Given the description of an element on the screen output the (x, y) to click on. 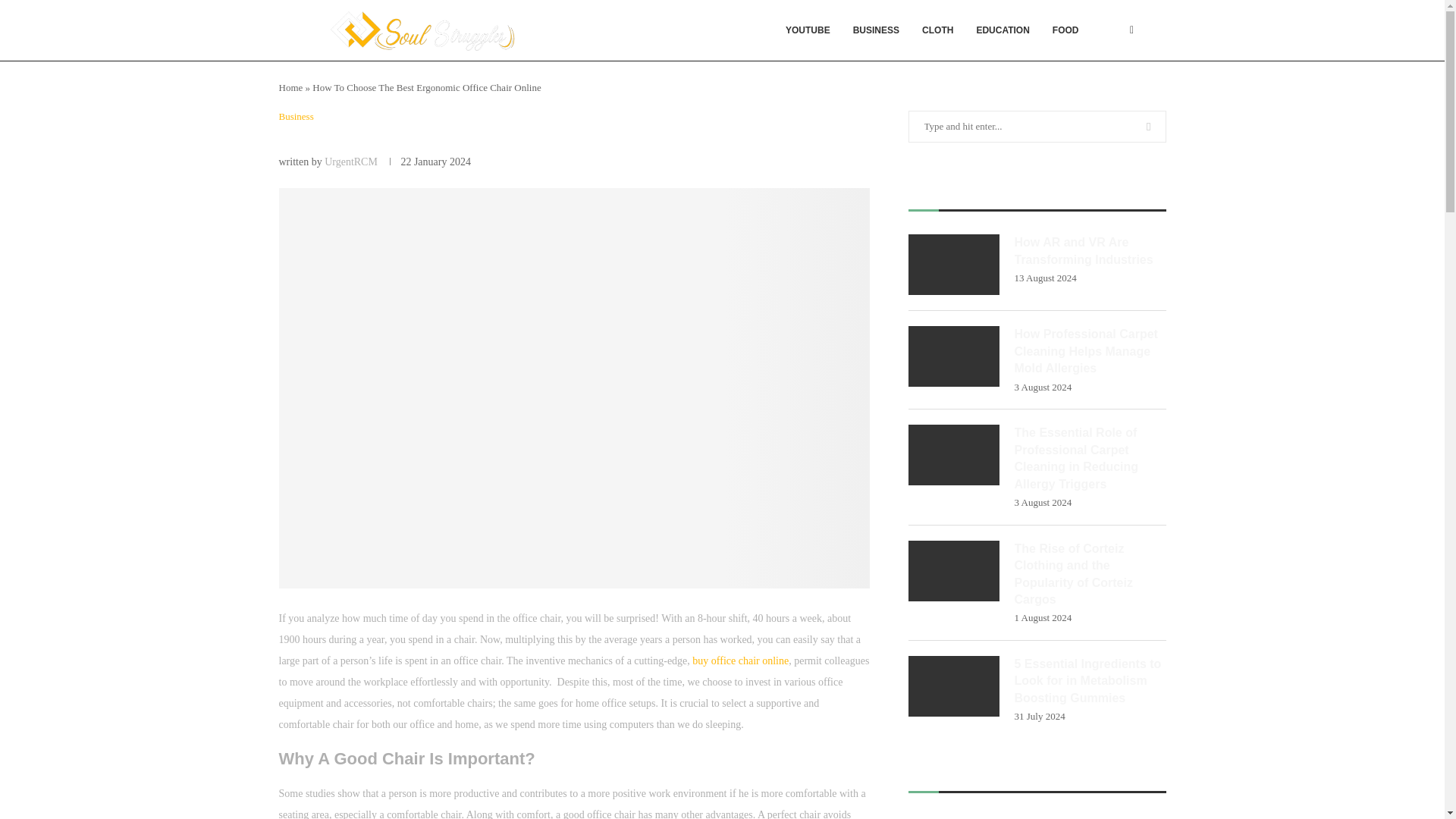
buy office chair online (741, 660)
EDUCATION (1002, 30)
YOUTUBE (807, 30)
How AR and VR Are Transforming Industries (1090, 251)
UrgentRCM (350, 161)
How Professional Carpet Cleaning Helps Manage Mold Allergies (953, 355)
Home (290, 87)
BUSINESS (876, 30)
Business (296, 116)
